Given the description of an element on the screen output the (x, y) to click on. 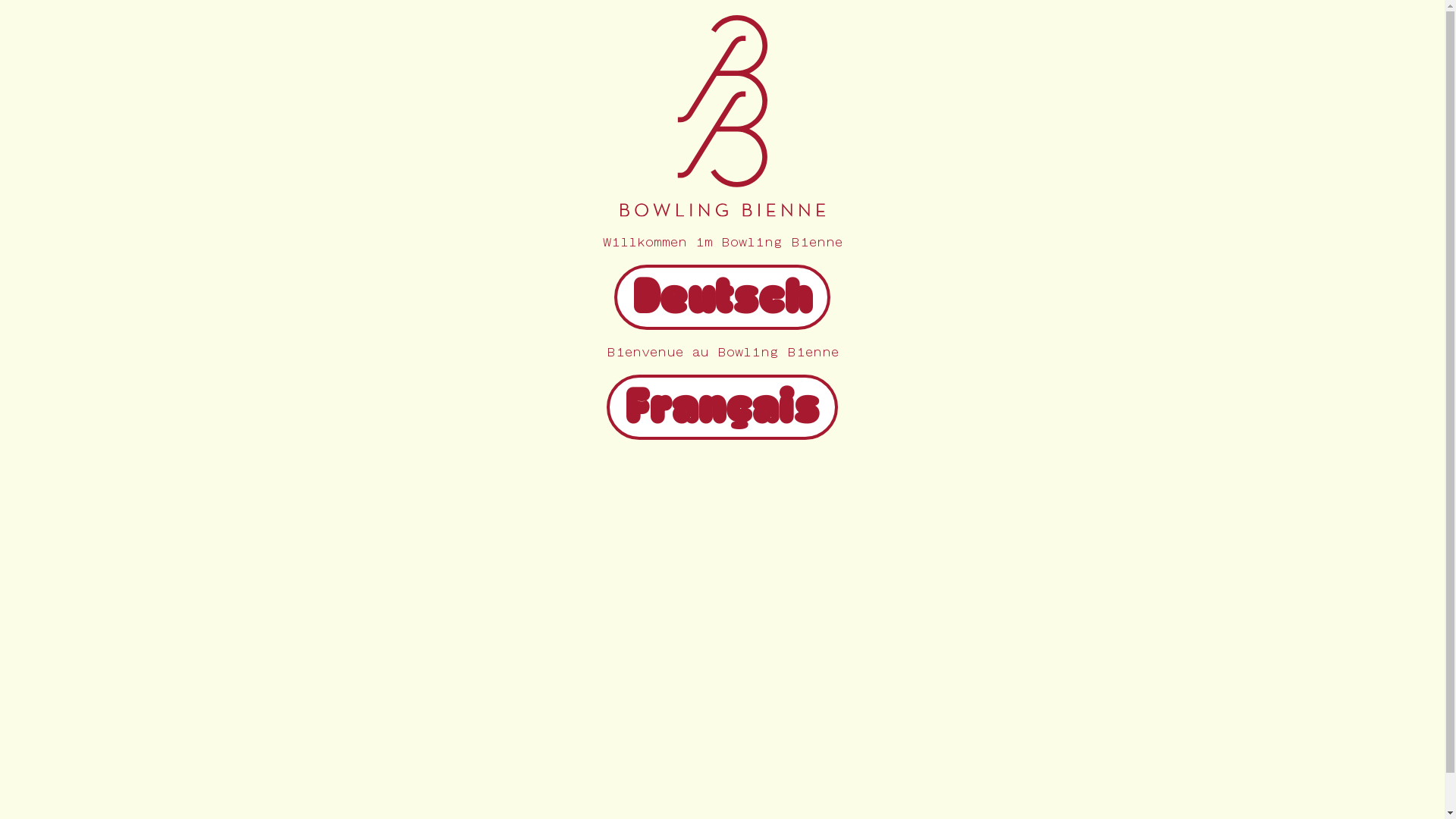
Deutsch Element type: text (722, 308)
